Given the description of an element on the screen output the (x, y) to click on. 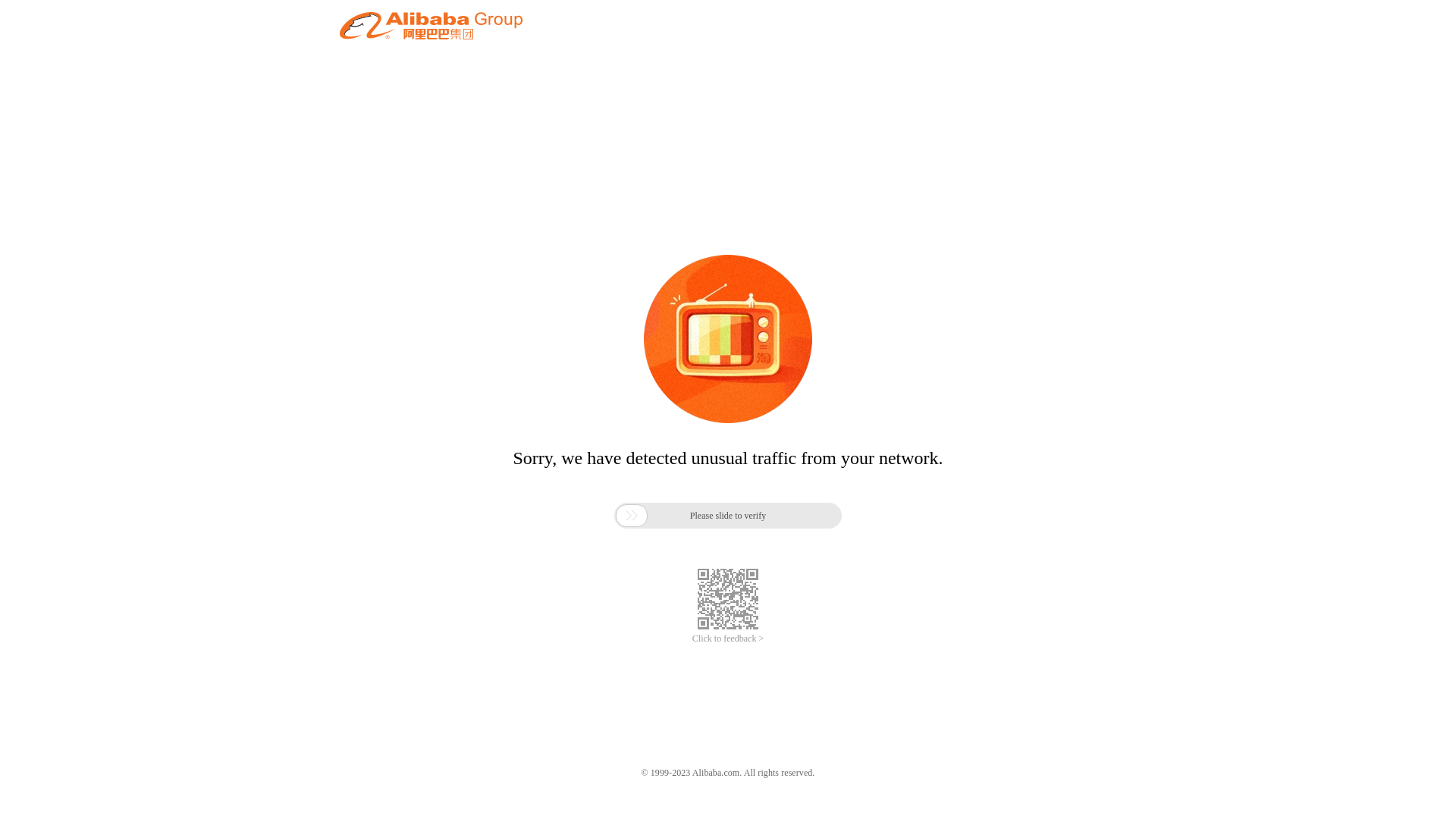
Click to feedback > Element type: text (727, 638)
